Given the description of an element on the screen output the (x, y) to click on. 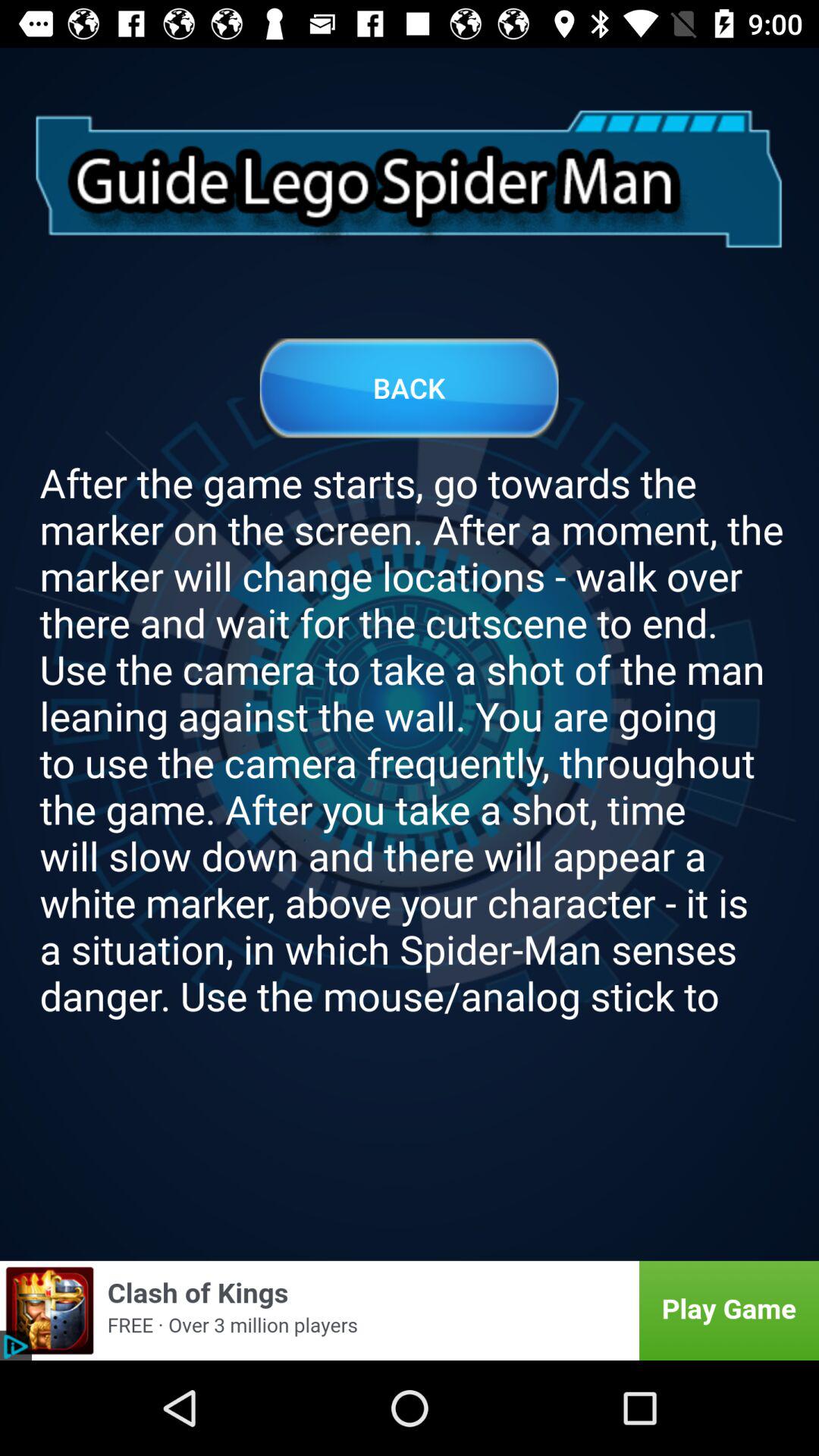
game advertisement (409, 1310)
